Given the description of an element on the screen output the (x, y) to click on. 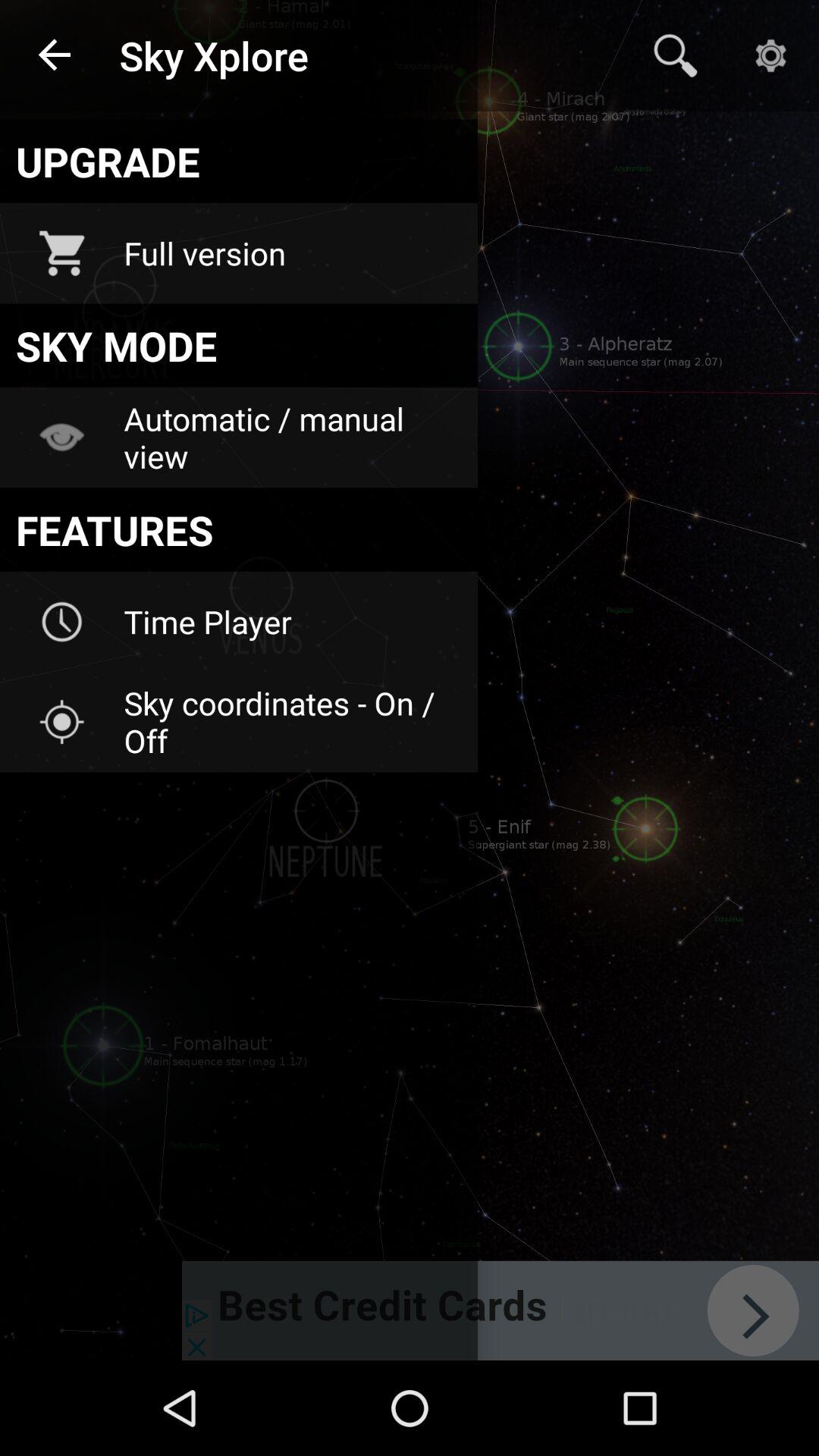
press time player (290, 621)
